Given the description of an element on the screen output the (x, y) to click on. 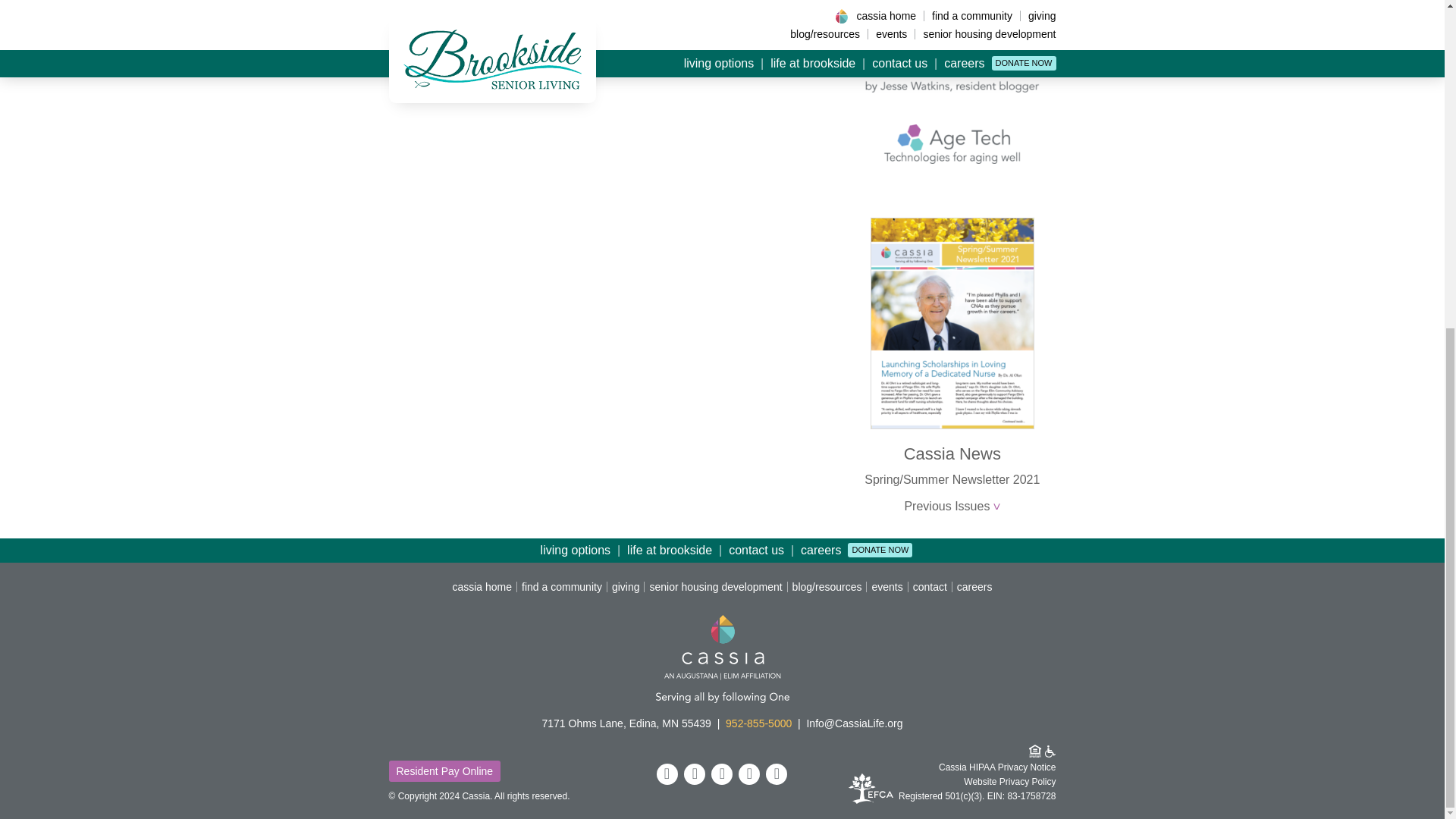
Click here (415, 36)
Equal Housing Opportunity and Handicap Accessible (1042, 750)
